Given the description of an element on the screen output the (x, y) to click on. 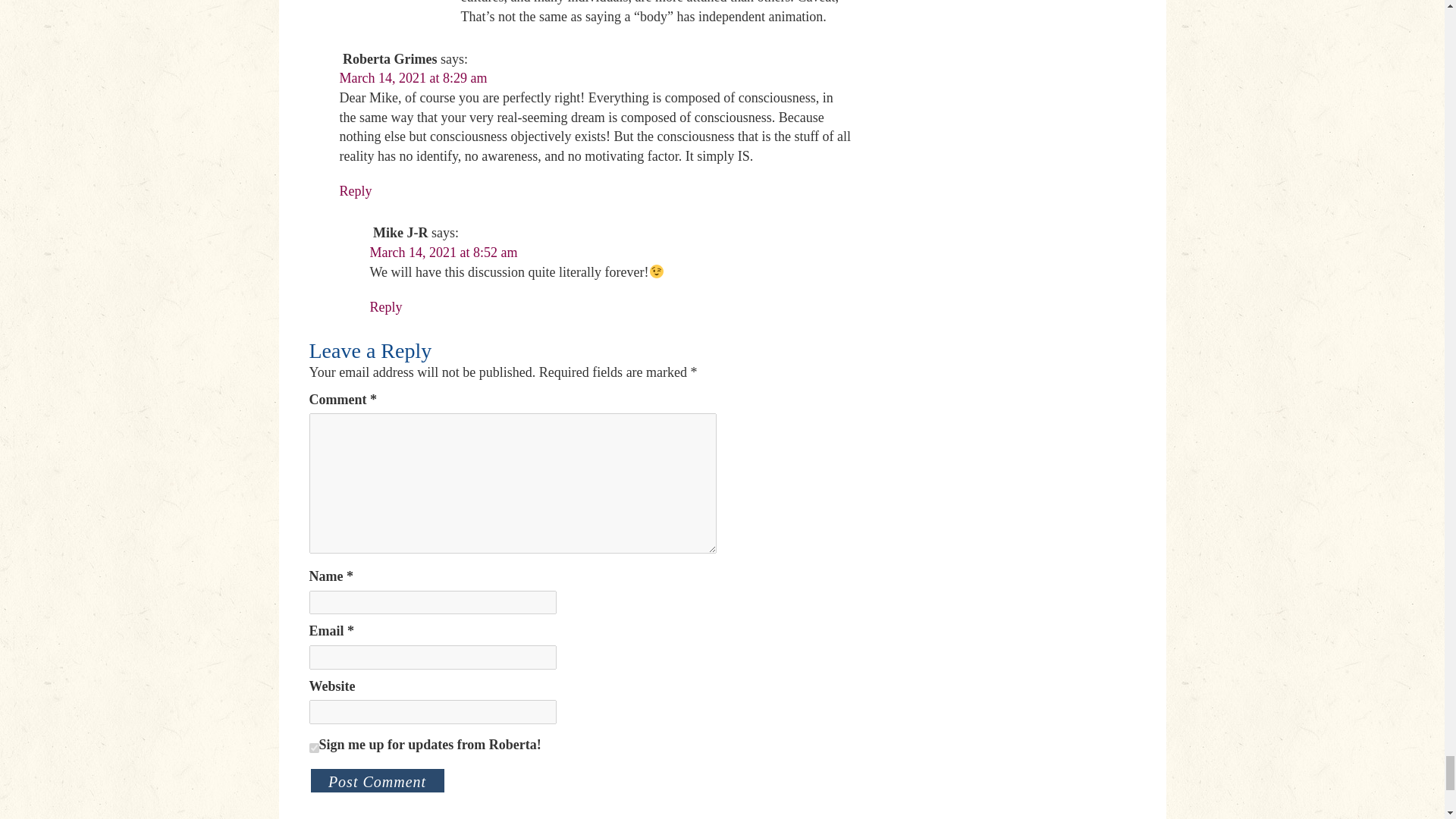
1 (313, 747)
Post Comment (376, 780)
